Given the description of an element on the screen output the (x, y) to click on. 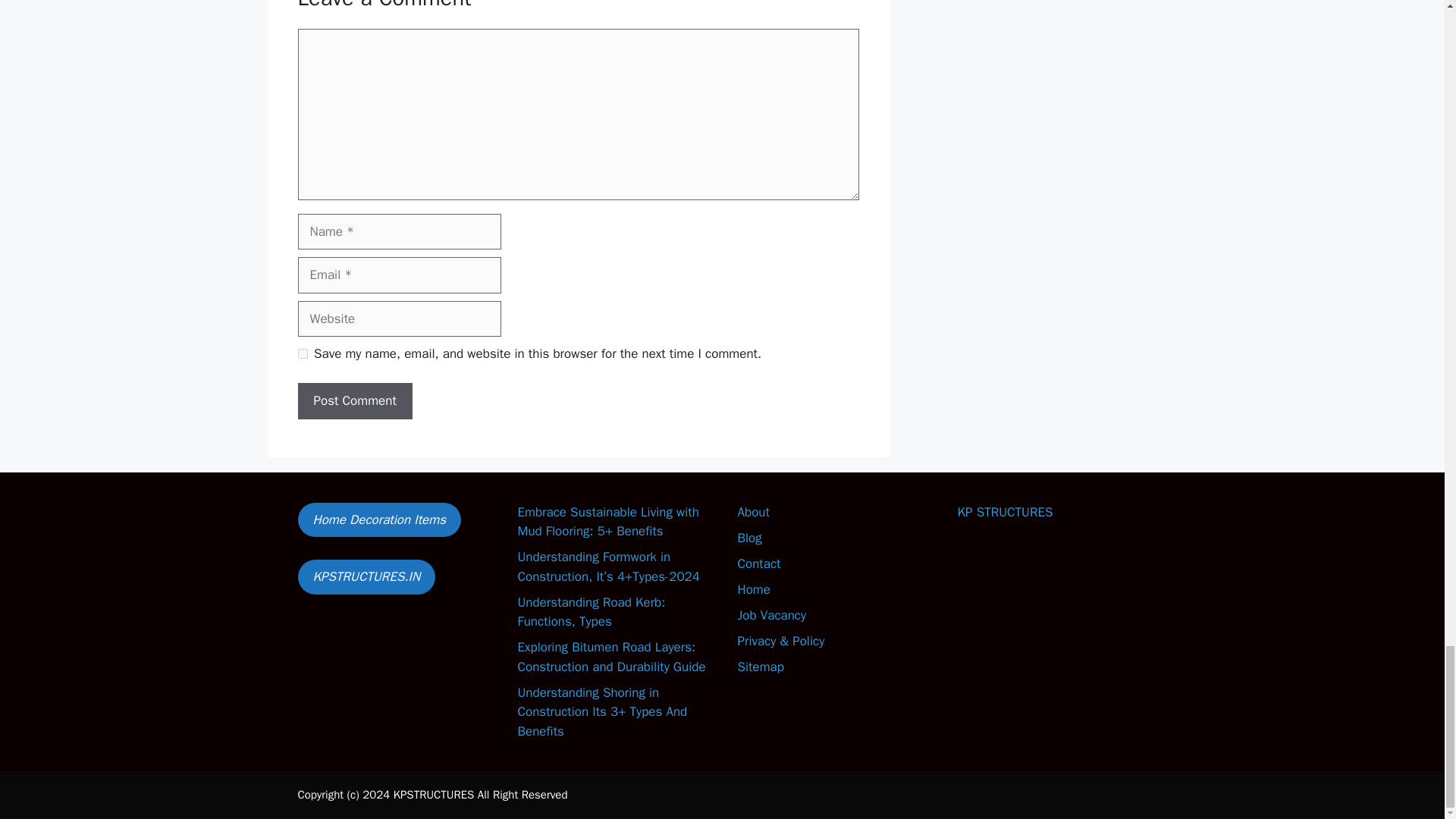
yes (302, 353)
Post Comment (354, 401)
